Given the description of an element on the screen output the (x, y) to click on. 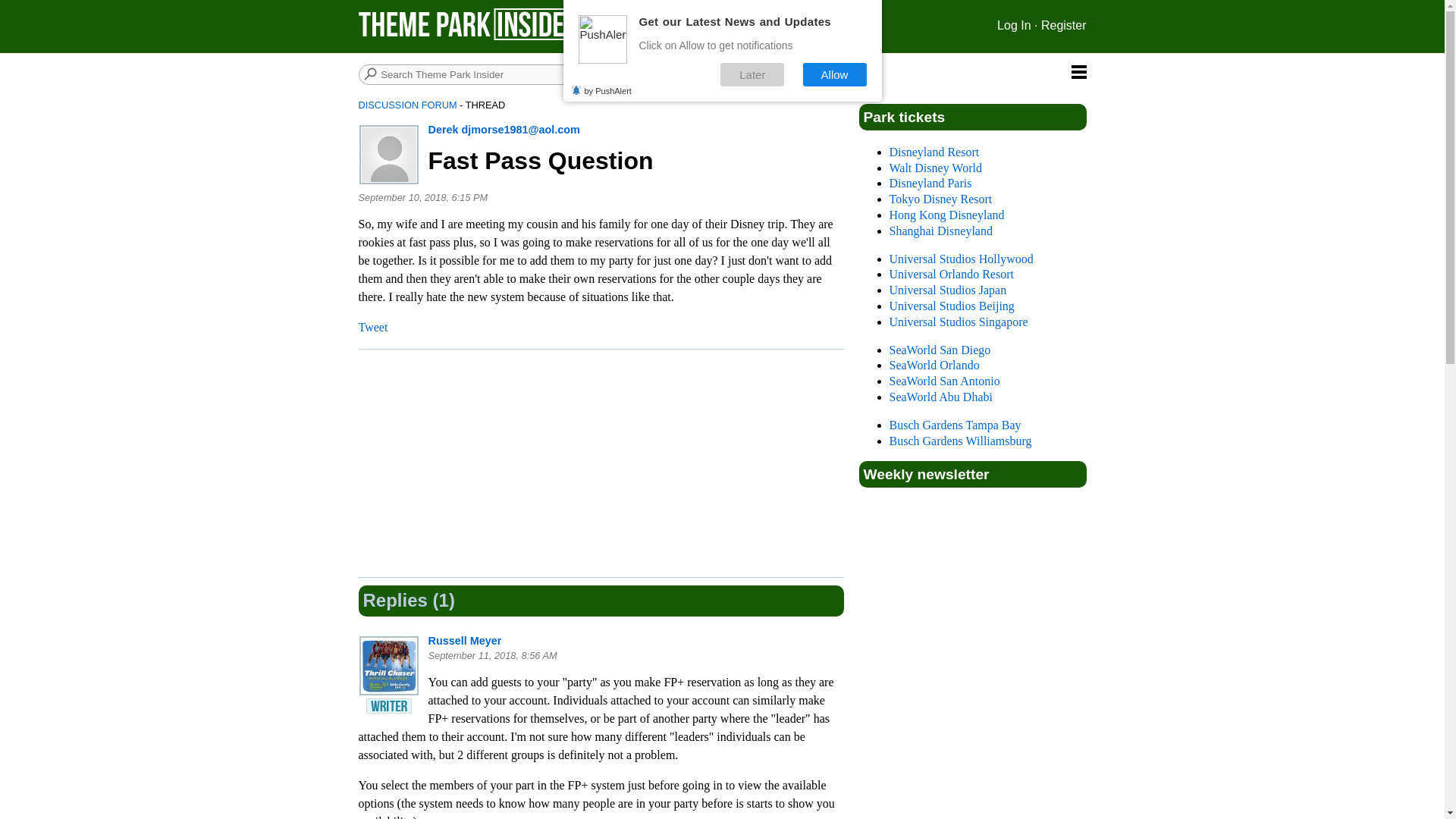
Universal Studios Beijing (950, 305)
SeaWorld San Antonio (943, 380)
Park tickets (903, 116)
Register (1063, 24)
Advertisement (607, 463)
Russell Meyer (464, 640)
Theme Park Insider (470, 36)
SeaWorld San Diego (939, 349)
SeaWorld Abu Dhabi (939, 396)
Universal Studios Singapore (957, 321)
SeaWorld Orlando (933, 364)
Tokyo Disney Resort (939, 198)
DISCUSSION FORUM (407, 104)
Log In (1013, 24)
Theme Park Insider (470, 23)
